Given the description of an element on the screen output the (x, y) to click on. 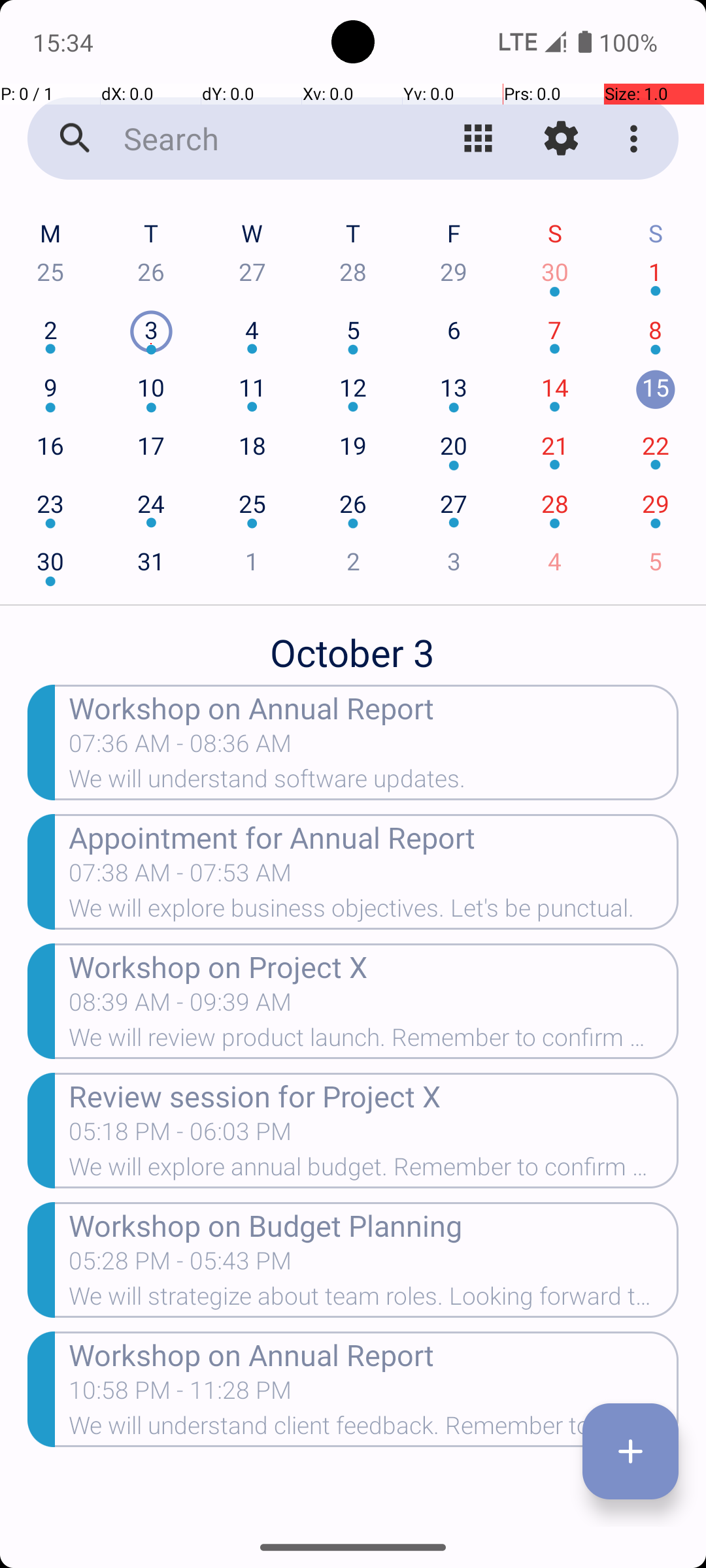
October 3 Element type: android.widget.TextView (352, 644)
07:36 AM - 08:36 AM Element type: android.widget.TextView (246, 747)
We will understand software updates. Element type: android.widget.TextView (373, 782)
07:38 AM - 07:53 AM Element type: android.widget.TextView (179, 876)
We will explore business objectives. Let's be punctual. Element type: android.widget.TextView (373, 911)
08:39 AM - 09:39 AM Element type: android.widget.TextView (179, 1005)
We will review product launch. Remember to confirm attendance. Element type: android.widget.TextView (373, 1041)
05:18 PM - 06:03 PM Element type: android.widget.TextView (179, 1135)
We will explore annual budget. Remember to confirm attendance. Element type: android.widget.TextView (373, 1170)
05:28 PM - 05:43 PM Element type: android.widget.TextView (179, 1264)
We will strategize about team roles. Looking forward to productive discussions. Element type: android.widget.TextView (373, 1299)
10:58 PM - 11:28 PM Element type: android.widget.TextView (179, 1393)
We will understand client feedback. Remember to confirm attendance. Element type: android.widget.TextView (373, 1429)
